Given the description of an element on the screen output the (x, y) to click on. 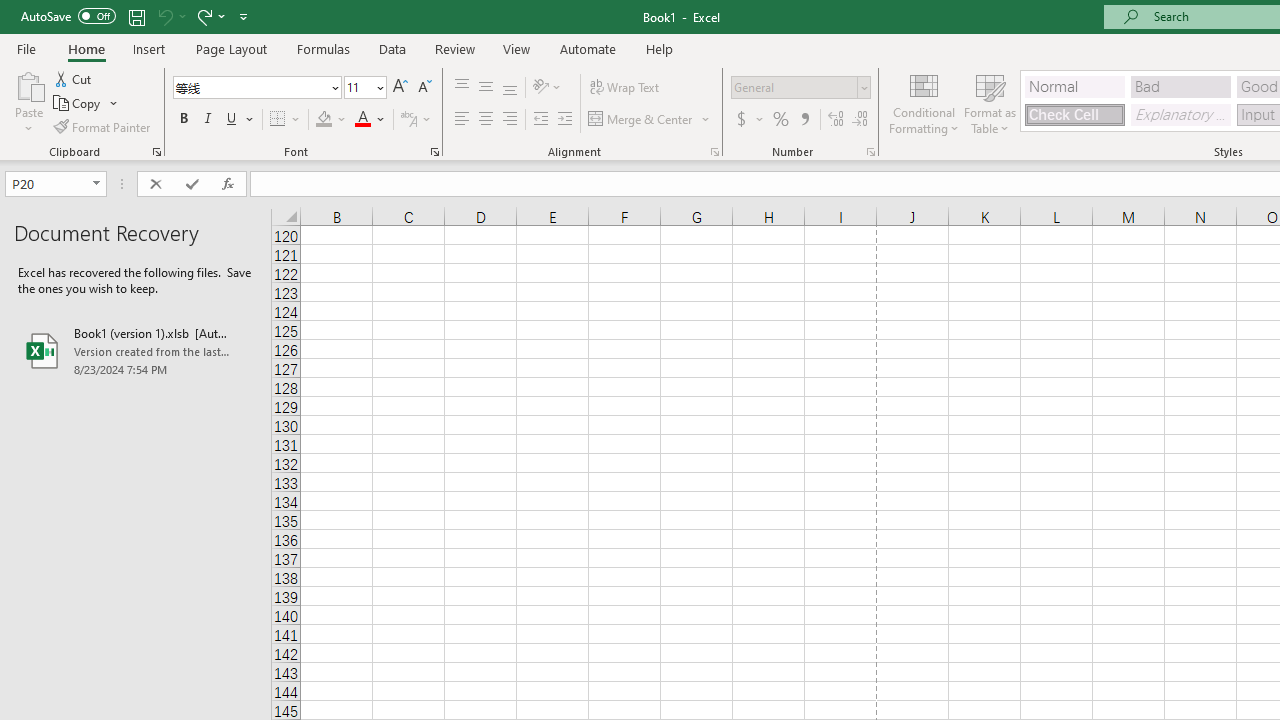
Copy (85, 103)
Explanatory Text (1180, 114)
